Given the description of an element on the screen output the (x, y) to click on. 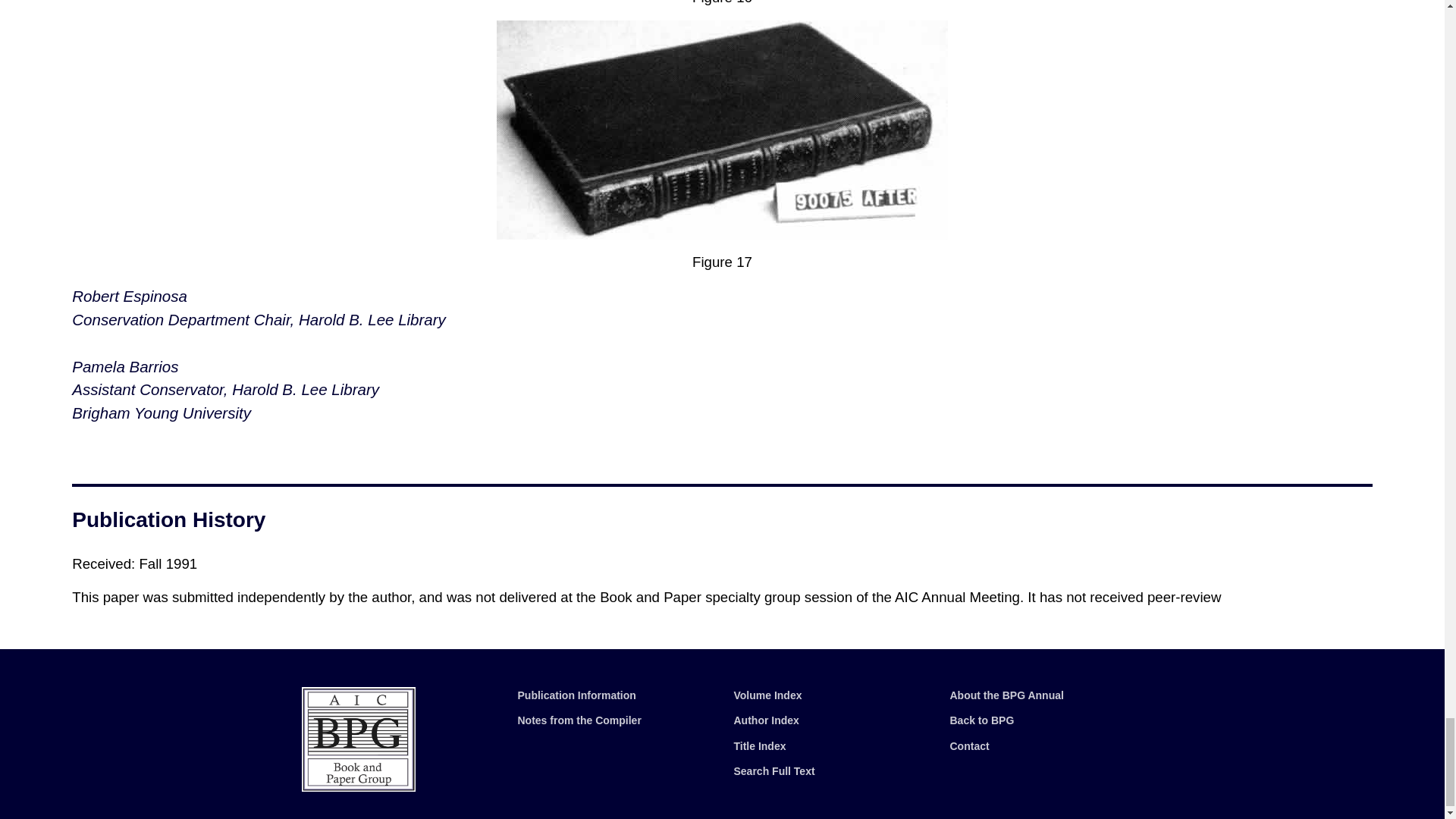
Back to BPG (981, 720)
Publication Information (575, 695)
Title Index (759, 746)
Search Full Text (774, 770)
About the BPG Annual (1005, 695)
Contact (968, 746)
Author Index (766, 720)
Volume Index (767, 695)
Notes from the Compiler (578, 720)
